Given the description of an element on the screen output the (x, y) to click on. 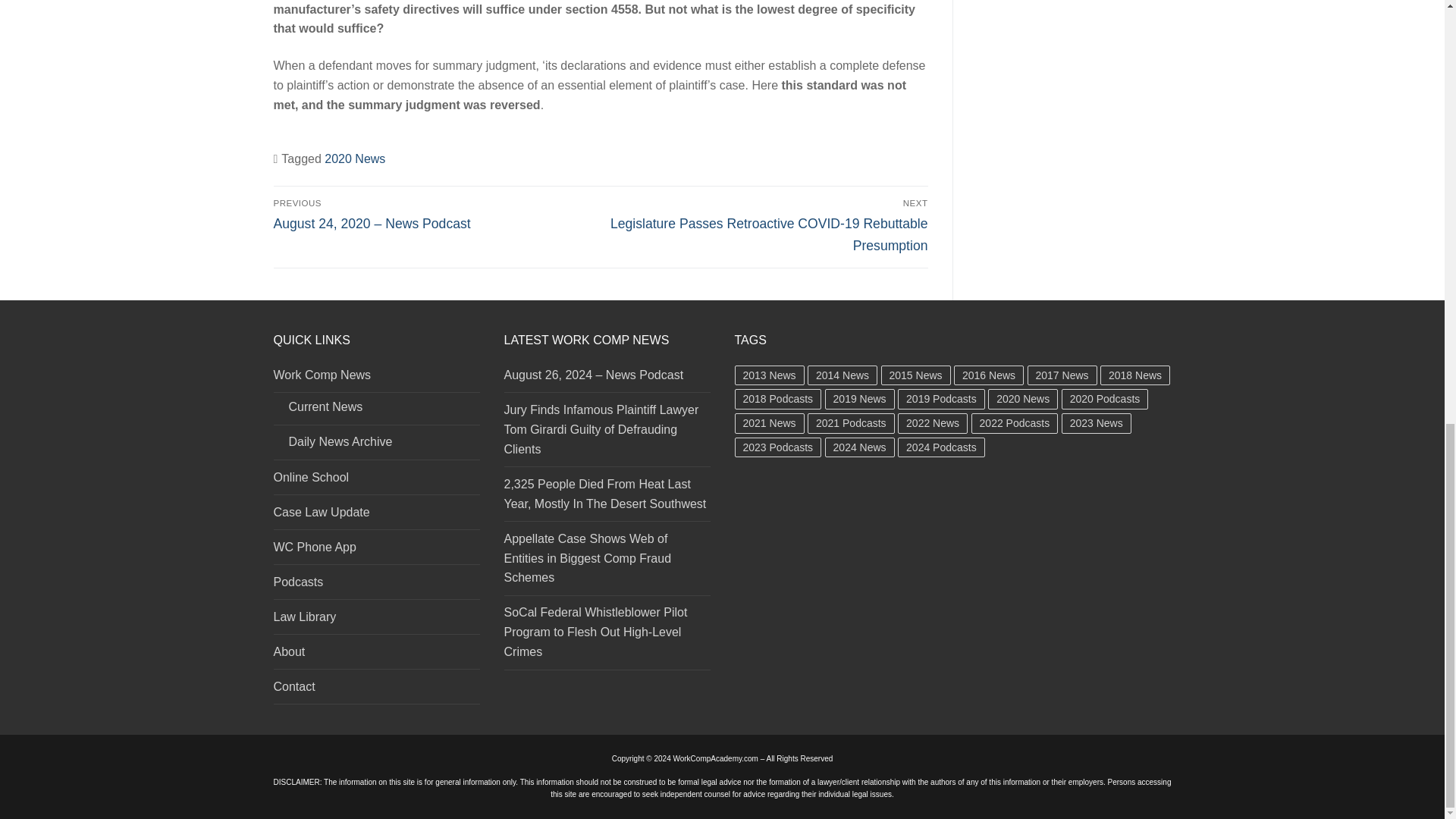
2020 News (354, 158)
Current News (376, 411)
Work Comp News  (376, 379)
Daily News Archive (376, 445)
